Given the description of an element on the screen output the (x, y) to click on. 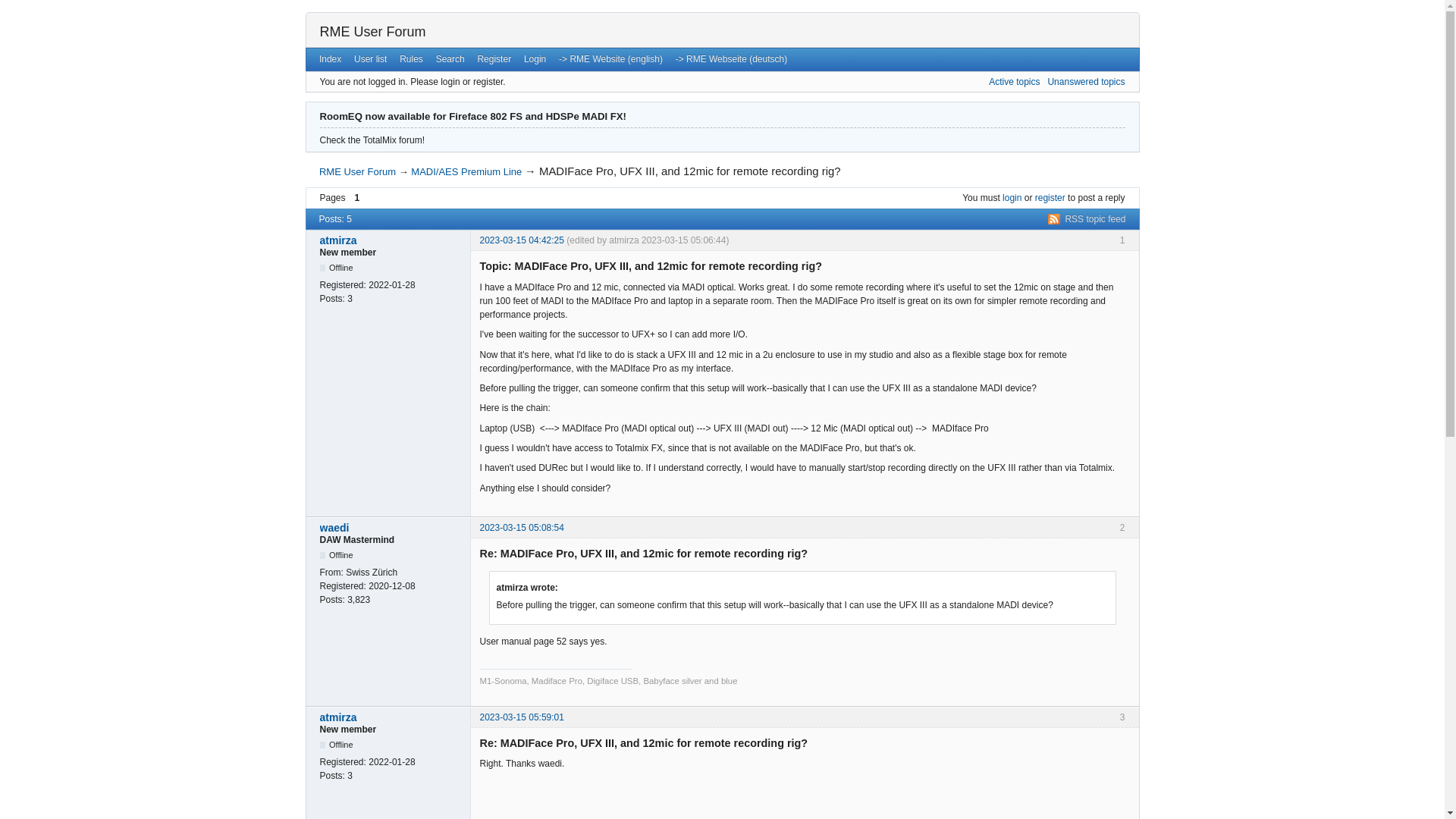
RSS topic feed (1086, 218)
RME User Forum (357, 171)
waedi (390, 527)
Permanent link to this post (521, 527)
2023-03-15 05:08:54 (521, 527)
Rules (411, 58)
Find topics which have not been replied to. (1085, 81)
Permanent link to this post (521, 716)
RME User Forum (373, 31)
2023-03-15 05:59:01 (521, 716)
atmirza (390, 240)
Index (330, 58)
Register (493, 58)
Active topics (1013, 81)
login (1012, 197)
